Given the description of an element on the screen output the (x, y) to click on. 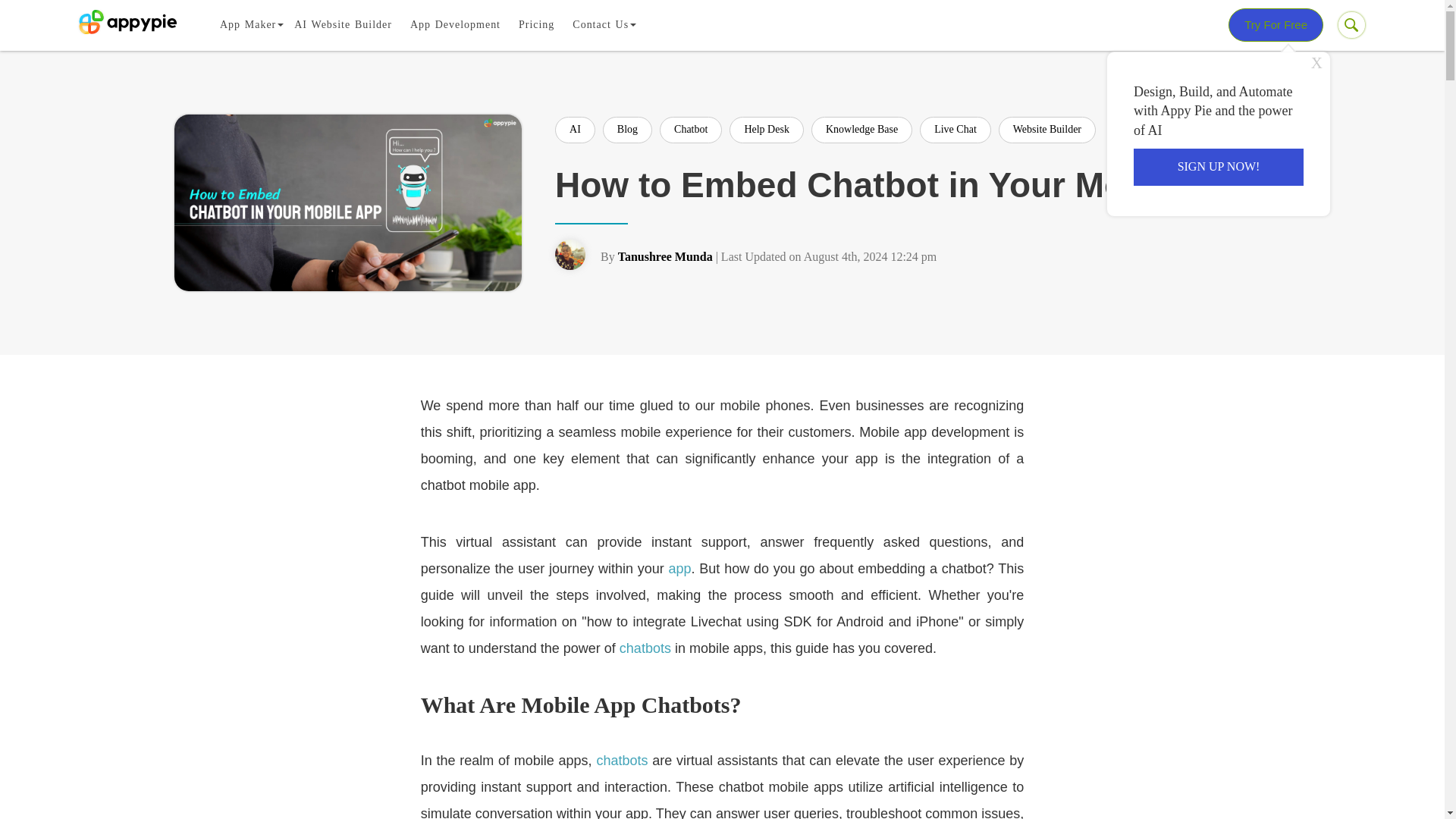
App Builder (248, 24)
Blog (627, 130)
App Pricing Plan (536, 24)
Help Desk (766, 130)
Knowledge Base (861, 130)
App Maker (248, 24)
Live Chat (955, 130)
Website Builder (1047, 130)
Tanushree Munda (665, 256)
Contact Us (600, 24)
